Given the description of an element on the screen output the (x, y) to click on. 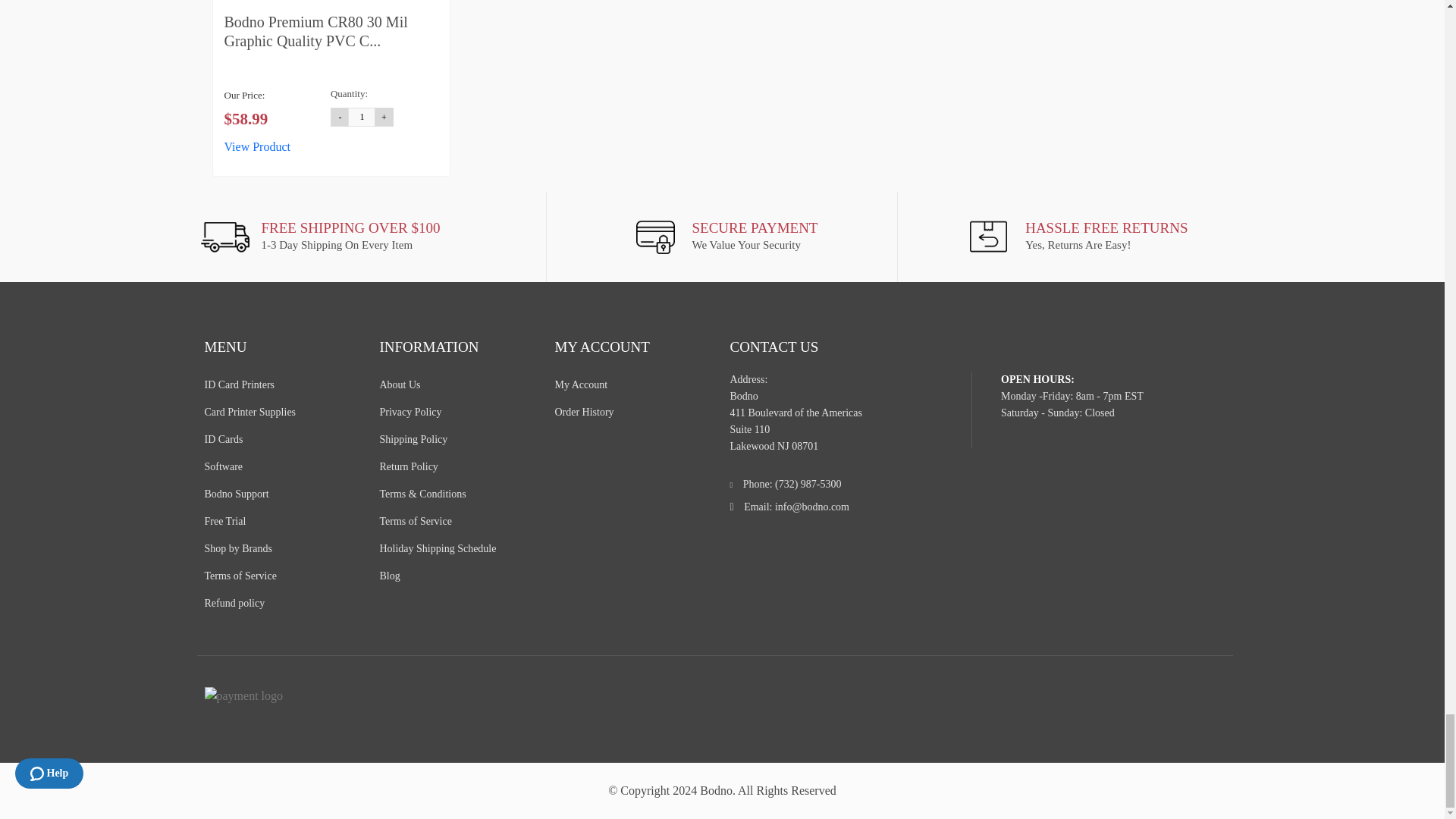
1 (361, 116)
Qty (361, 116)
